Given the description of an element on the screen output the (x, y) to click on. 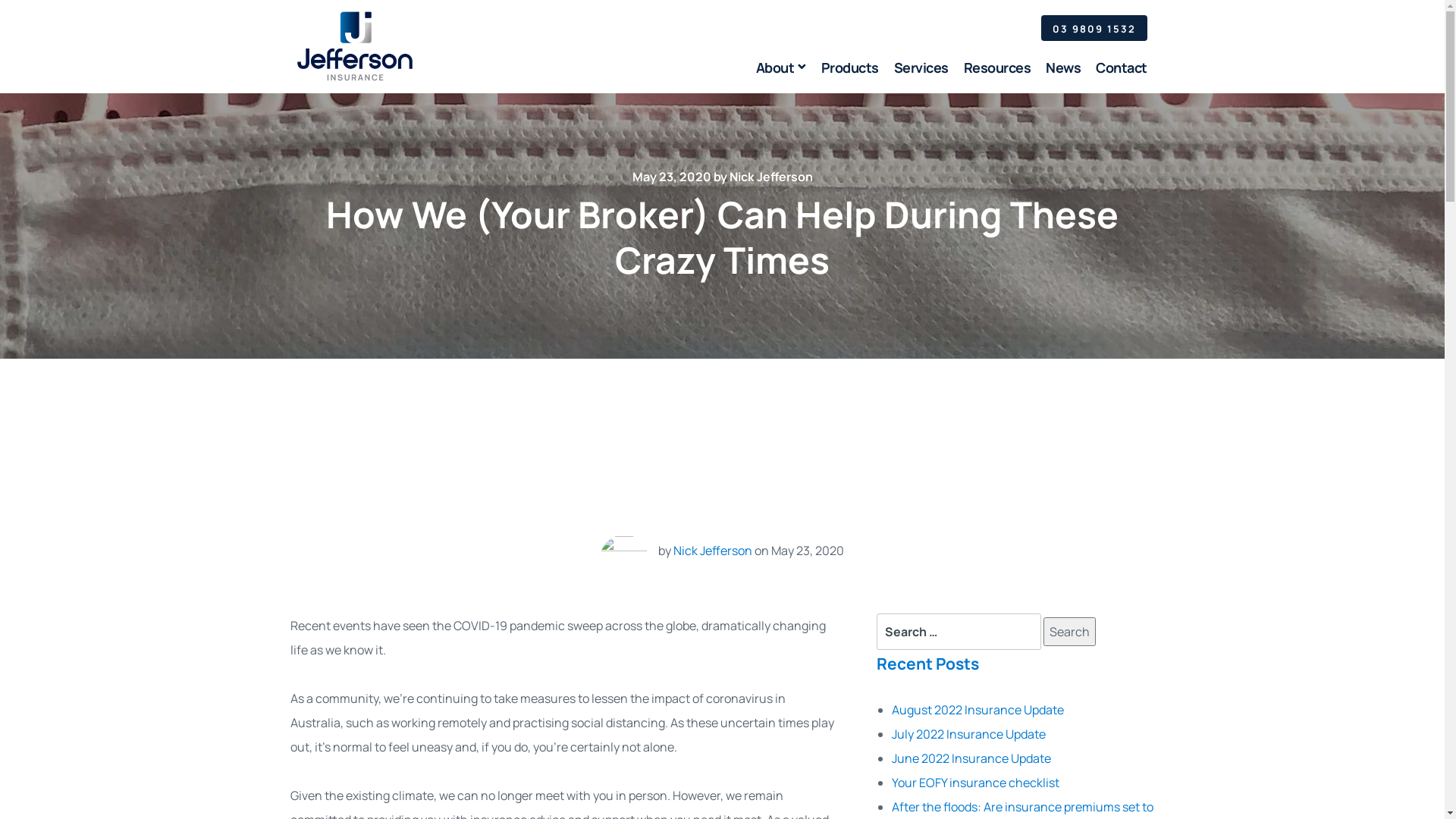
View all of Nick's posts Element type: hover (623, 557)
Jefferson Insurance Element type: hover (353, 46)
Resources Element type: text (996, 73)
News Element type: text (1063, 73)
Nick Jefferson Element type: text (712, 550)
Services Element type: text (920, 73)
June 2022 Insurance Update Element type: text (971, 757)
August 2022 Insurance Update Element type: text (977, 709)
Products Element type: text (848, 73)
Nick Jefferson Element type: text (770, 176)
Your EOFY insurance checklist Element type: text (975, 782)
Contact Element type: text (1121, 73)
July 2022 Insurance Update Element type: text (968, 733)
Search Element type: text (1069, 631)
About Element type: text (779, 73)
